Given the description of an element on the screen output the (x, y) to click on. 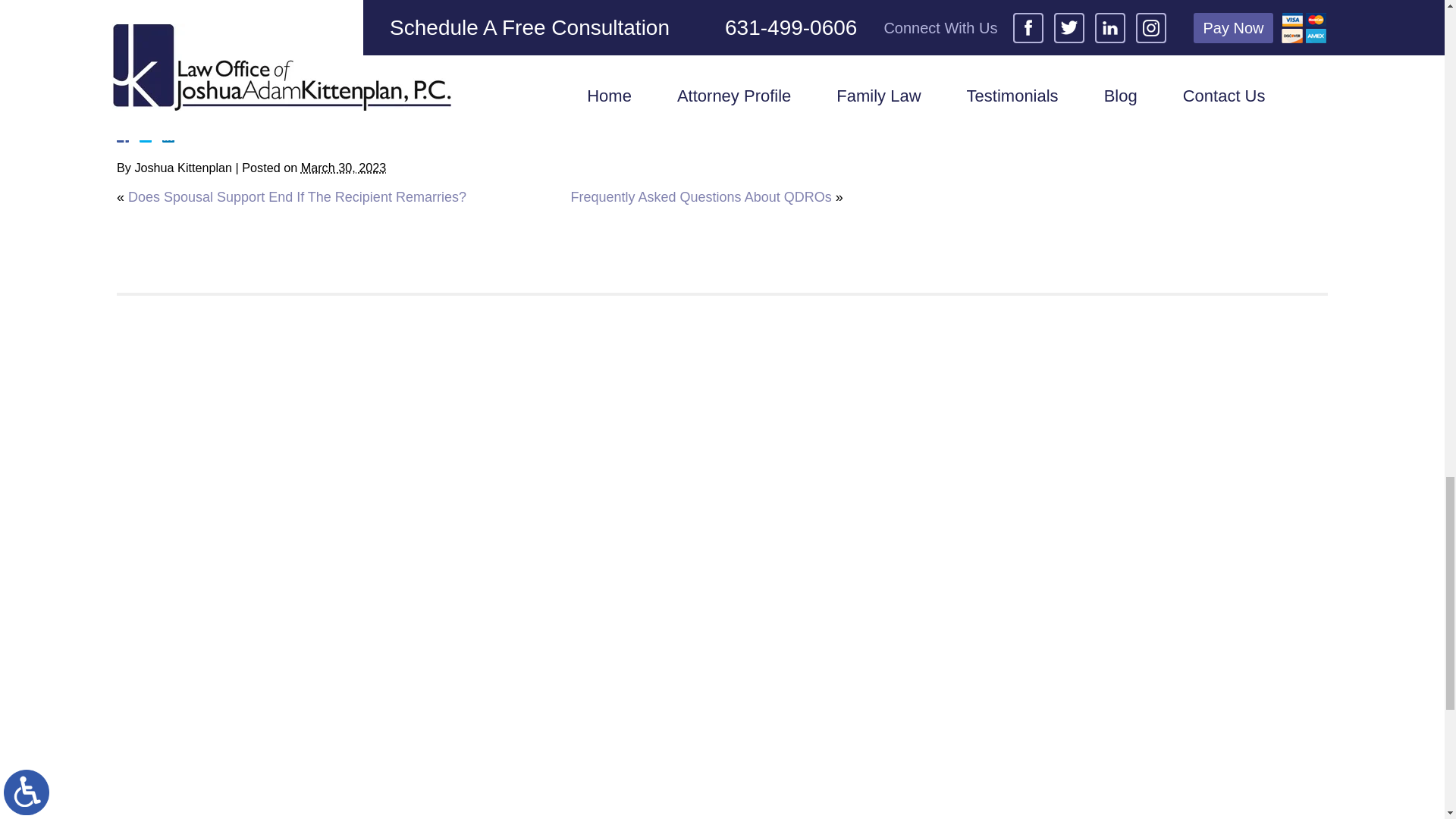
LinkedIn (162, 136)
Facebook (140, 136)
2023-03-30T07:06:36-0700 (343, 167)
Twitter (152, 136)
